Given the description of an element on the screen output the (x, y) to click on. 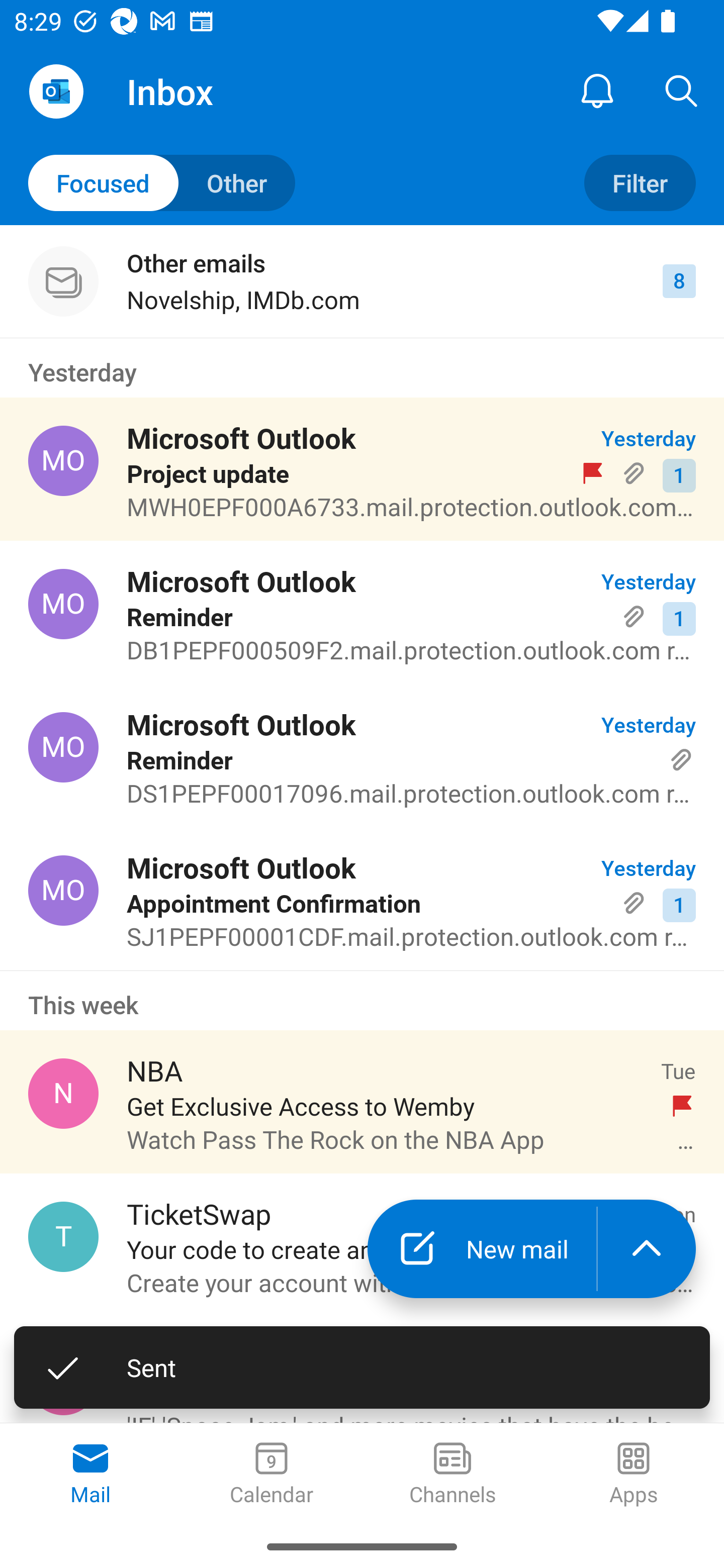
Notification Center (597, 90)
Search, ,  (681, 90)
Open Navigation Drawer (55, 91)
Toggle to other mails (161, 183)
Filter (639, 183)
Other emails Novelship, IMDb.com 8 (362, 281)
NBA, NBA@email.nba.com (63, 1093)
New mail (481, 1248)
launch the extended action menu (646, 1248)
TicketSwap, info@ticketswap.com (63, 1236)
IMDb.com, do-not-reply@imdb.com (63, 1380)
Calendar (271, 1474)
Channels (452, 1474)
Apps (633, 1474)
